Given the description of an element on the screen output the (x, y) to click on. 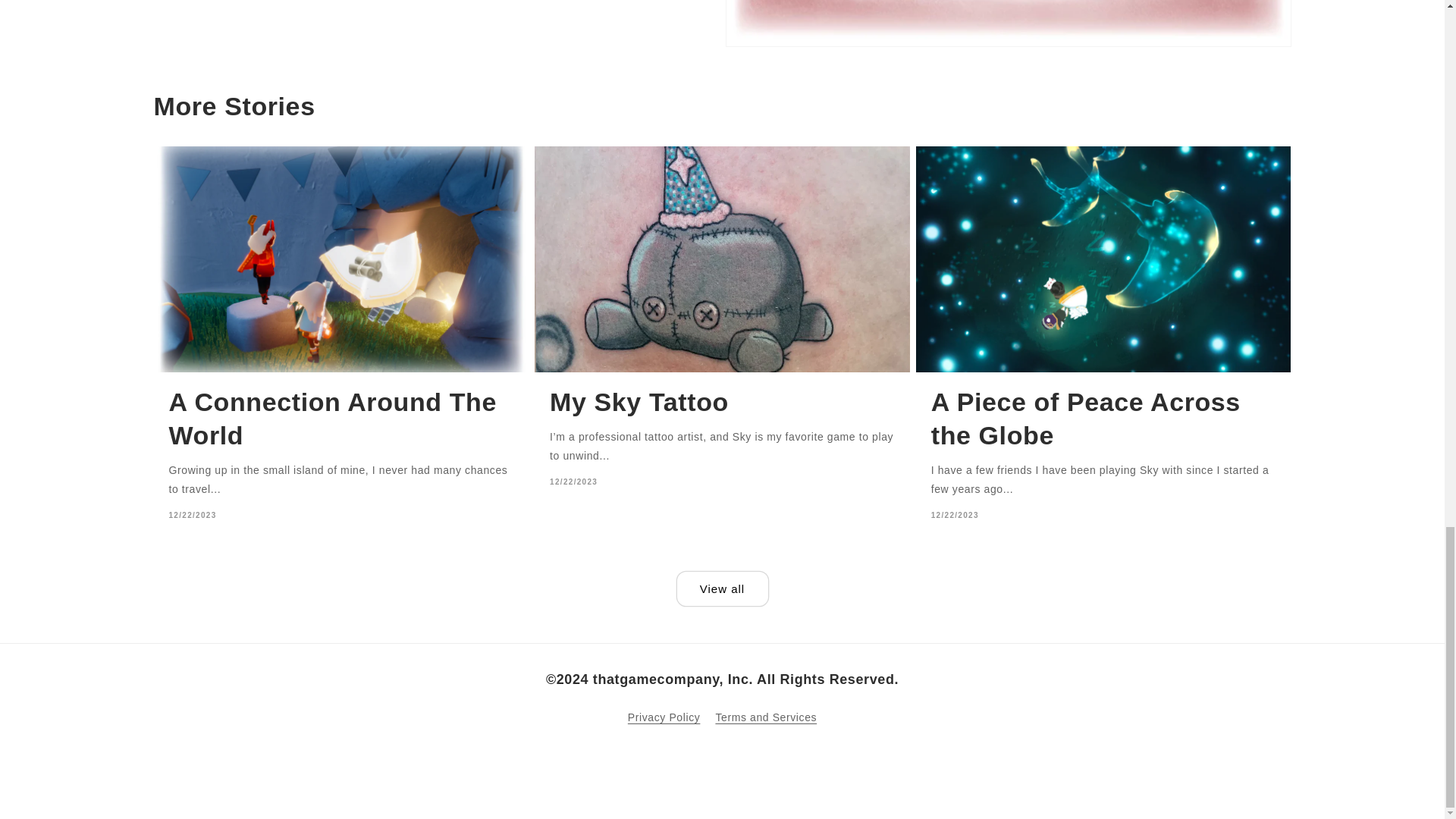
View all (722, 588)
A Connection Around The World (340, 418)
Terms and Services (765, 717)
My Sky Tattoo (722, 401)
Privacy Policy (663, 719)
A Piece of Peace Across the Globe (1103, 418)
